Given the description of an element on the screen output the (x, y) to click on. 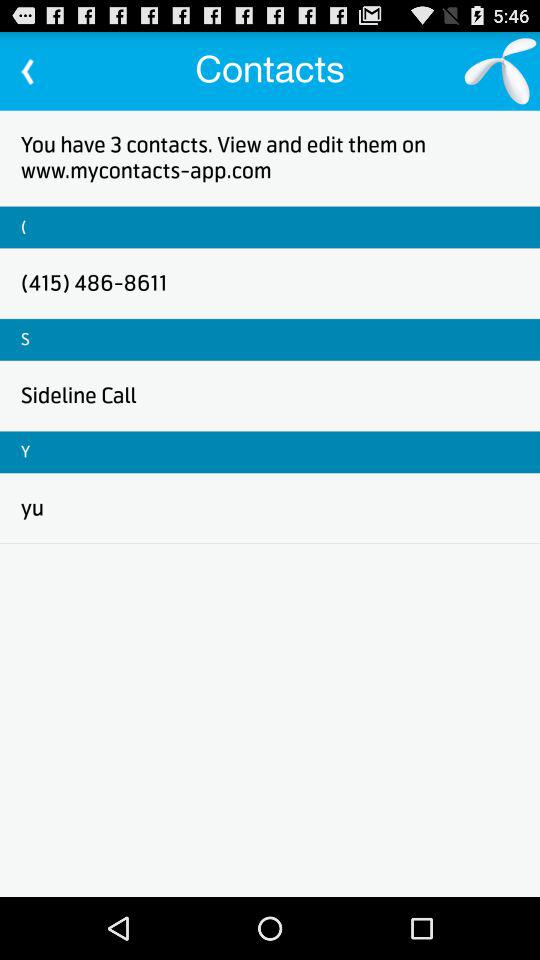
turn on icon below y (32, 507)
